Given the description of an element on the screen output the (x, y) to click on. 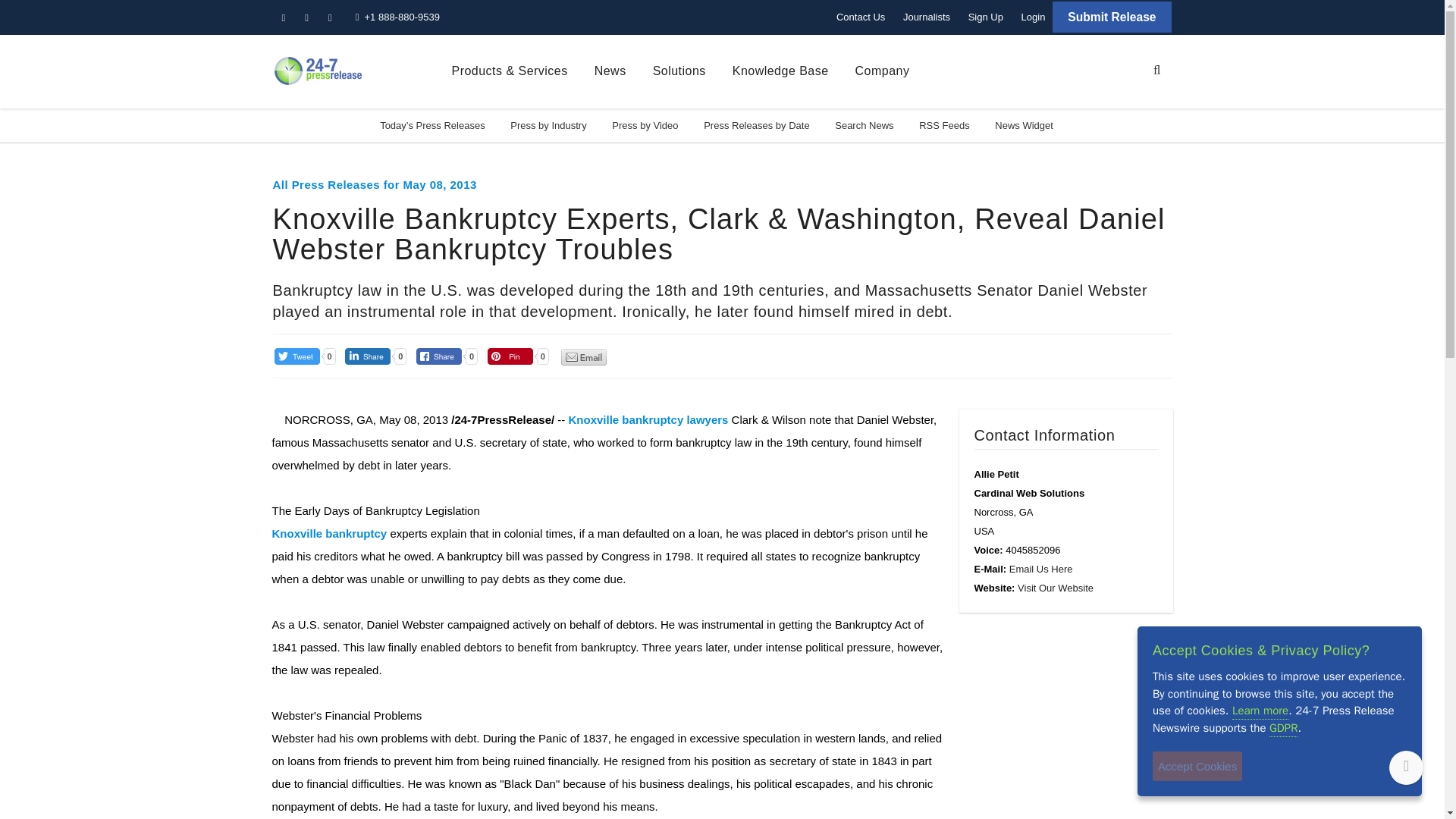
Sign Up (985, 16)
Login (1032, 16)
Contact Us (860, 16)
Journalists (926, 16)
Company (882, 71)
Solutions (679, 71)
Submit Release (1111, 16)
Knowledge Base (780, 71)
